Given the description of an element on the screen output the (x, y) to click on. 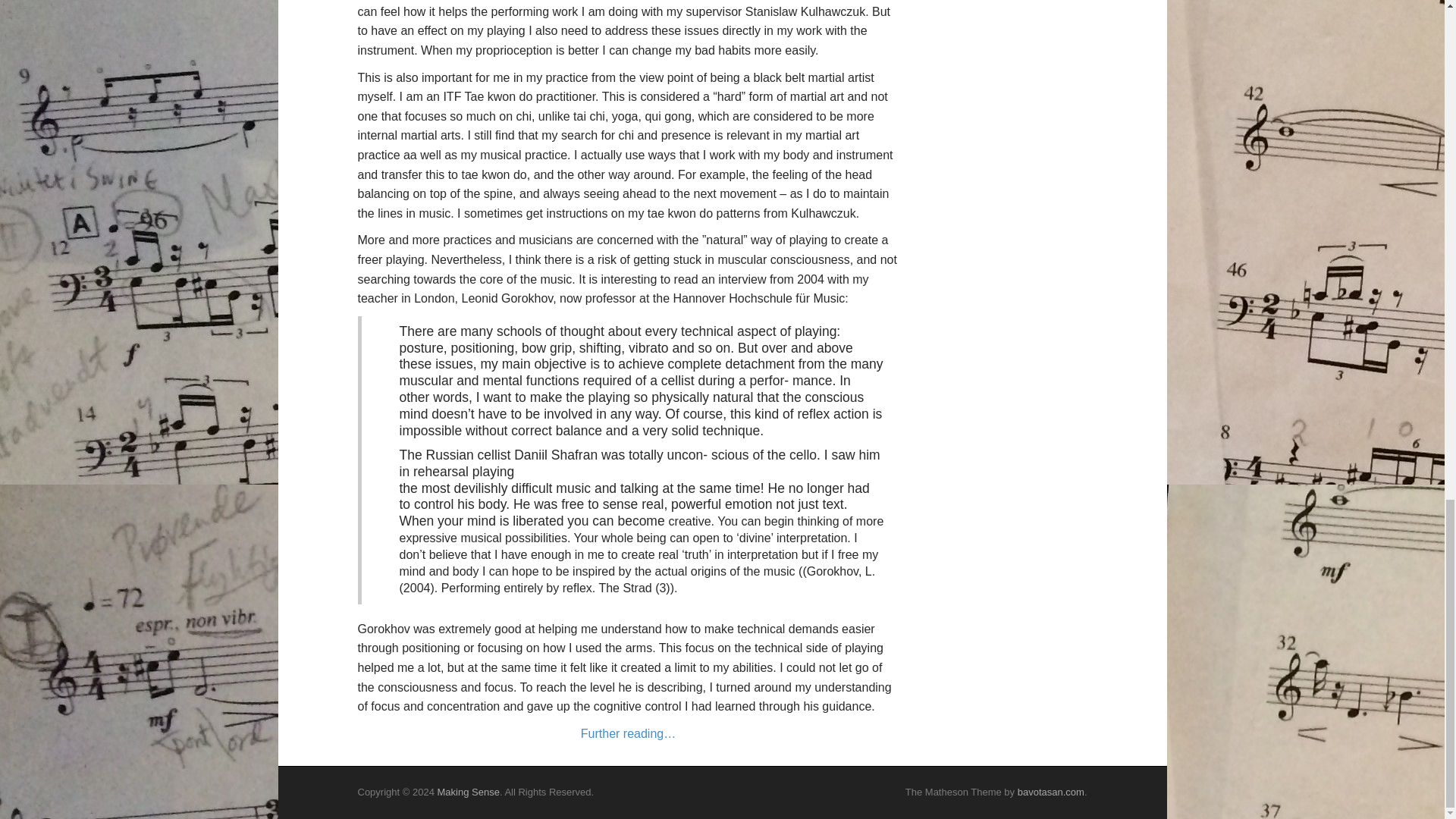
Page 99 (628, 681)
